Given the description of an element on the screen output the (x, y) to click on. 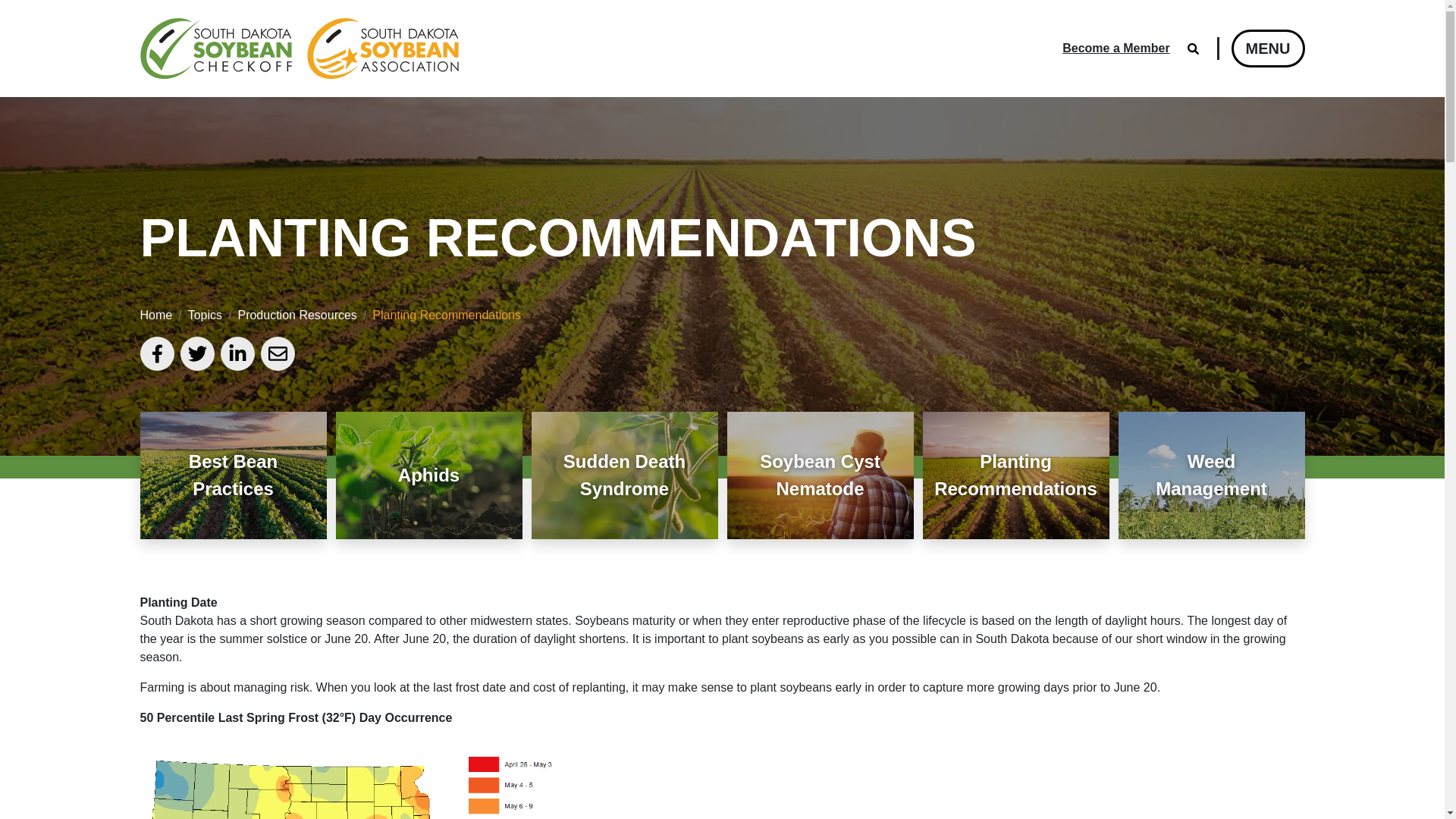
Become a Member (1115, 47)
MENU (1267, 48)
